Given the description of an element on the screen output the (x, y) to click on. 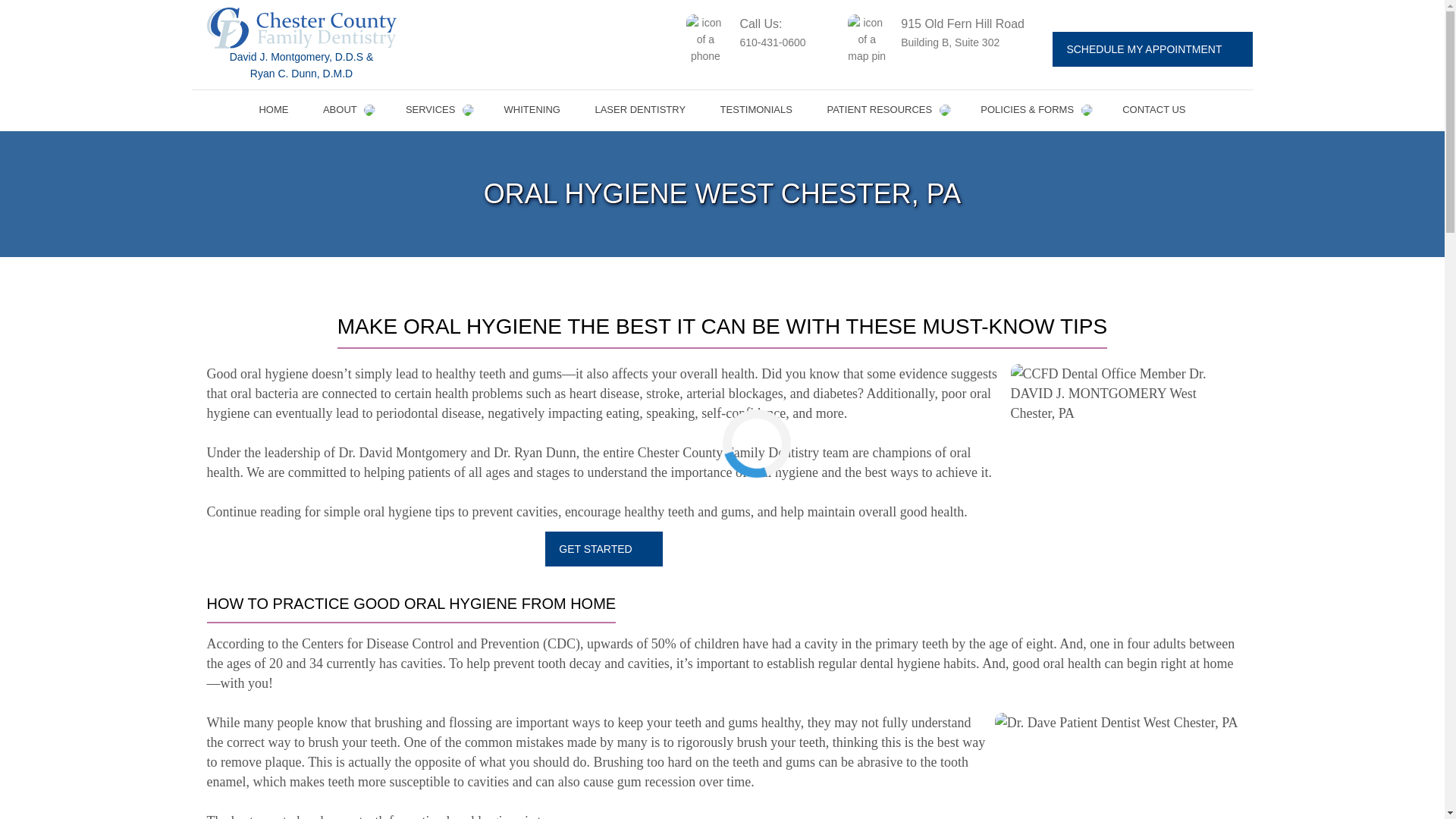
CONTACT US (1153, 110)
HOME (273, 110)
SERVICES (437, 110)
TESTIMONIALS (756, 110)
link to Google map of office (945, 39)
link to make an appointment (1151, 49)
LASER DENTISTRY (639, 110)
SCHEDULE MY APPOINTMENT (1151, 49)
link to call (761, 39)
link to Services page (437, 110)
